Given the description of an element on the screen output the (x, y) to click on. 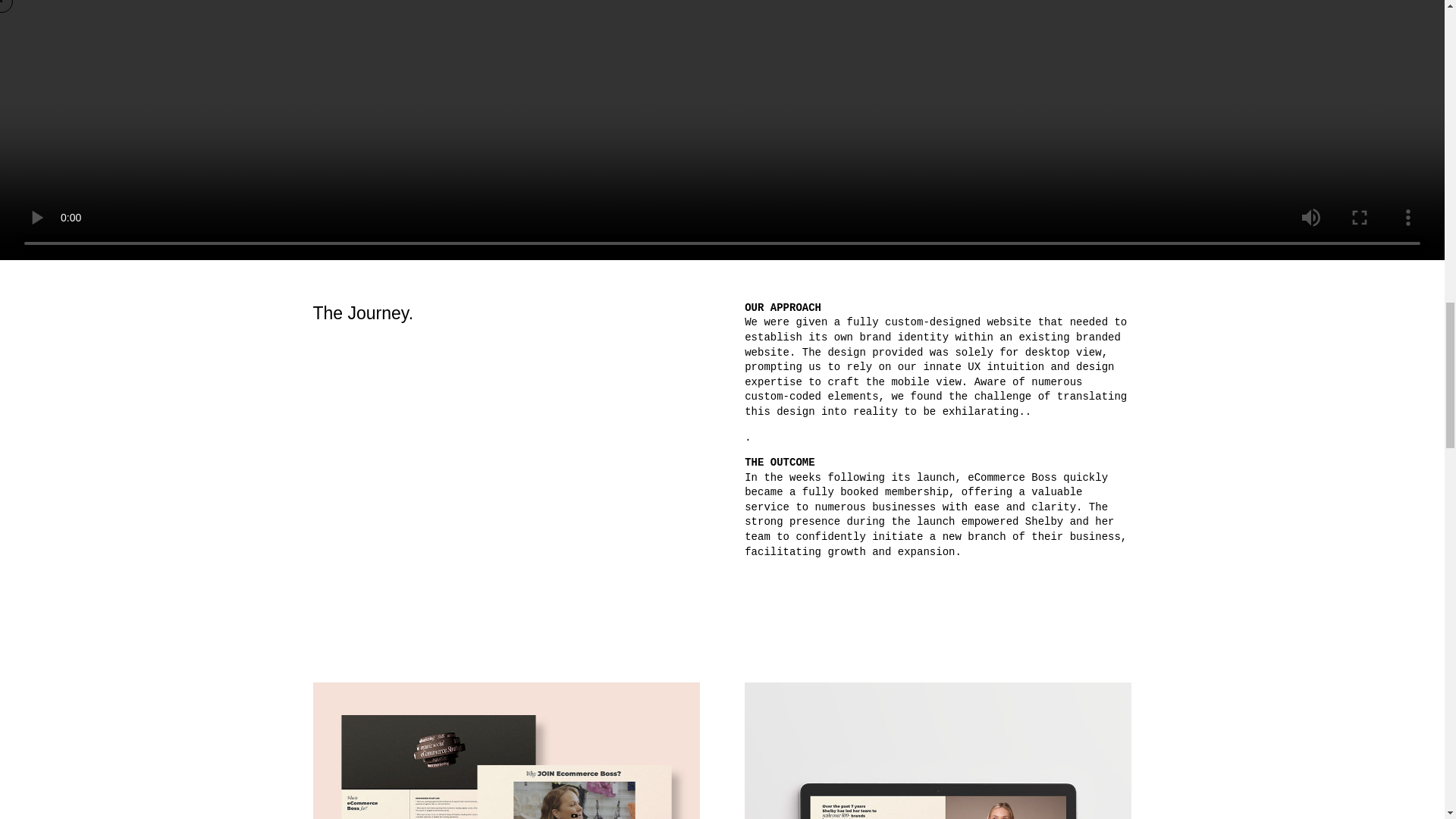
EcommBoss-6 (505, 750)
EcommBoss-7 (937, 750)
